Given the description of an element on the screen output the (x, y) to click on. 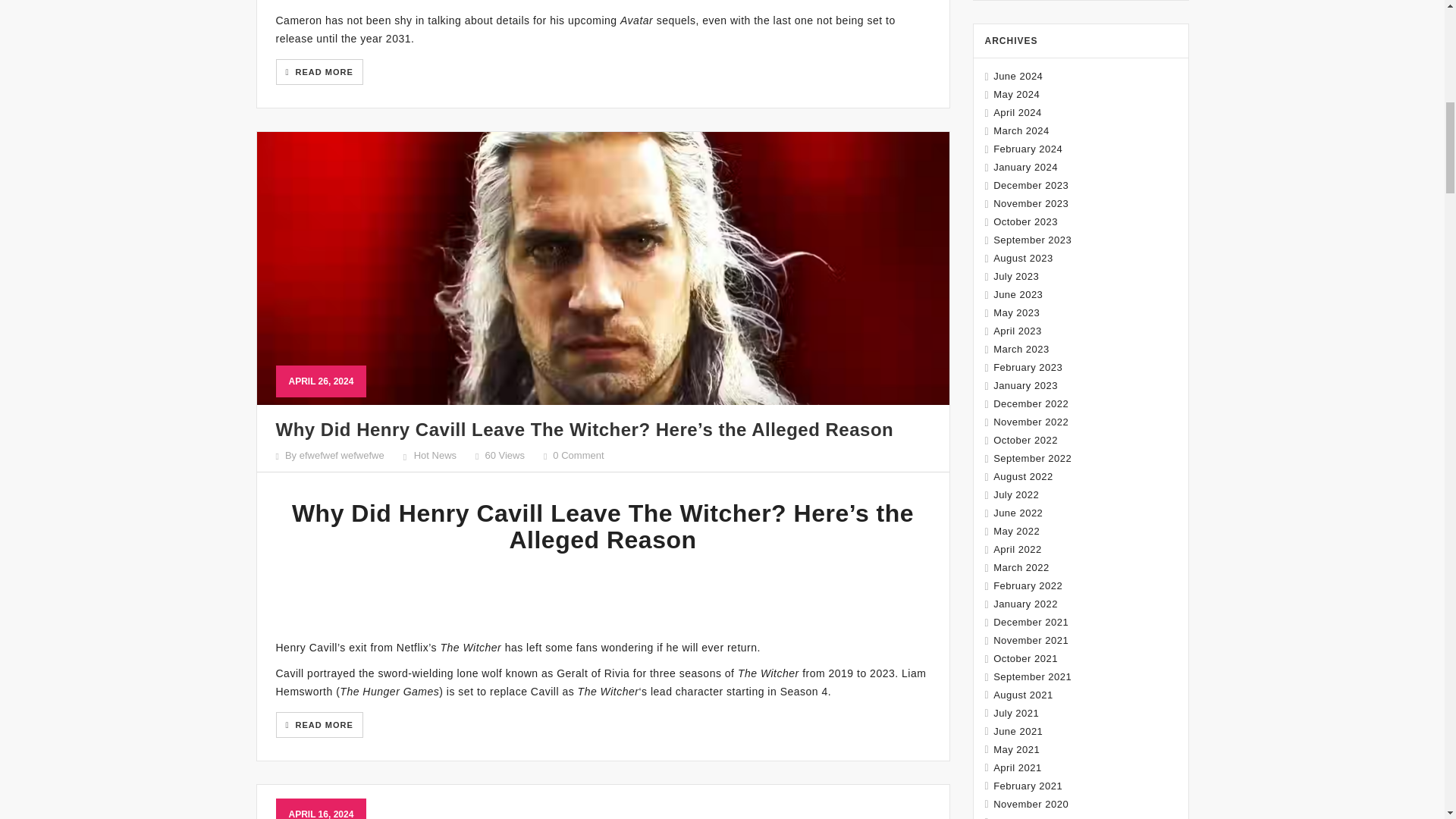
READ MORE (319, 724)
0 Comment (578, 455)
READ MORE (319, 71)
Hot News (435, 455)
